Given the description of an element on the screen output the (x, y) to click on. 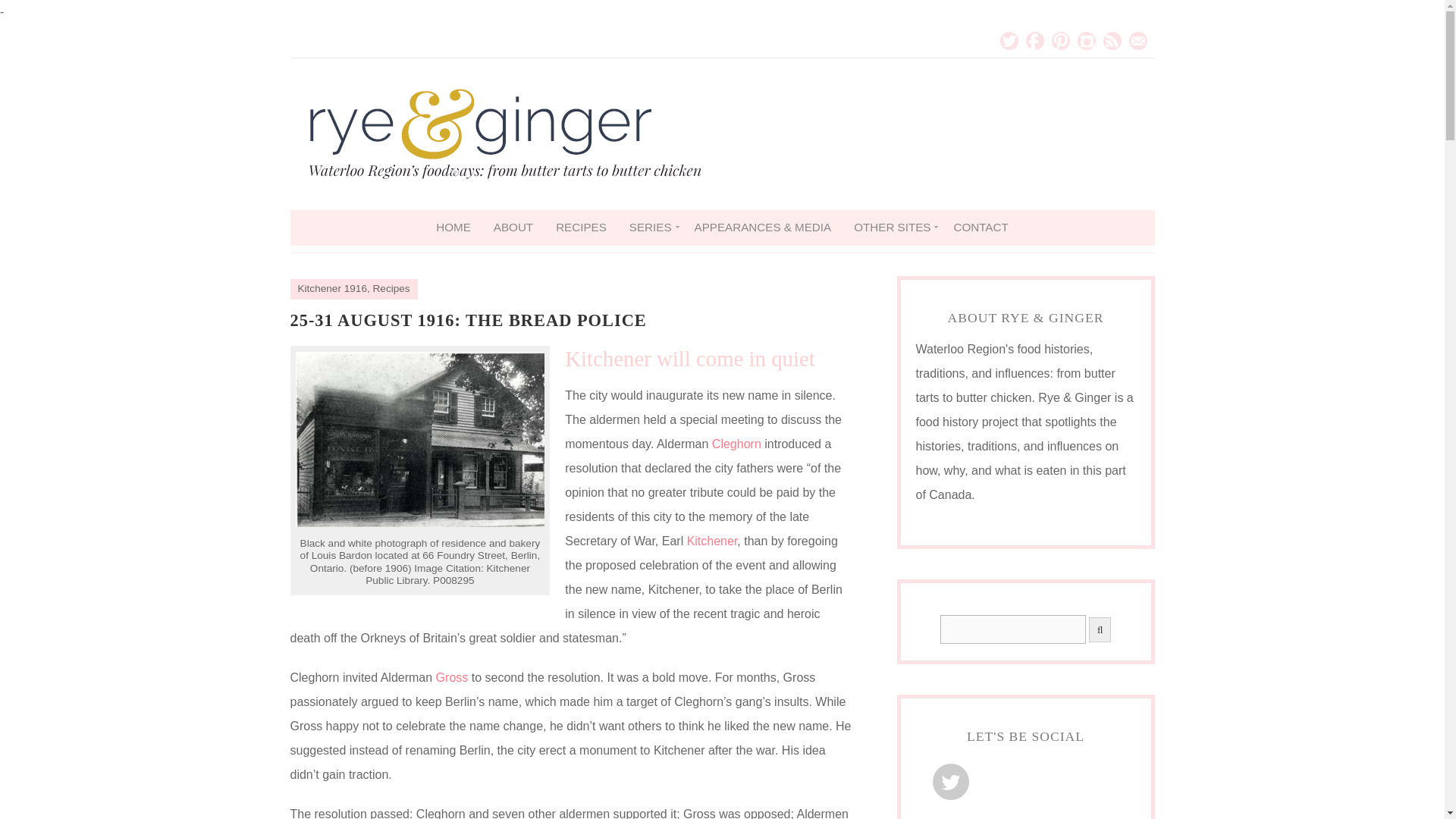
Search (1013, 629)
CONTACT (980, 226)
Bardon Bakery, Berlin (419, 522)
SERIES (649, 226)
Email (1137, 40)
Pinterest (1059, 40)
Twitter (1007, 40)
Gross (451, 676)
Kitchener (712, 540)
Kitchener 1916 (331, 288)
RECIPES (580, 226)
ABOUT (512, 226)
RSS Feed (1111, 40)
Instagram (1085, 40)
OTHER SITES (892, 226)
